Given the description of an element on the screen output the (x, y) to click on. 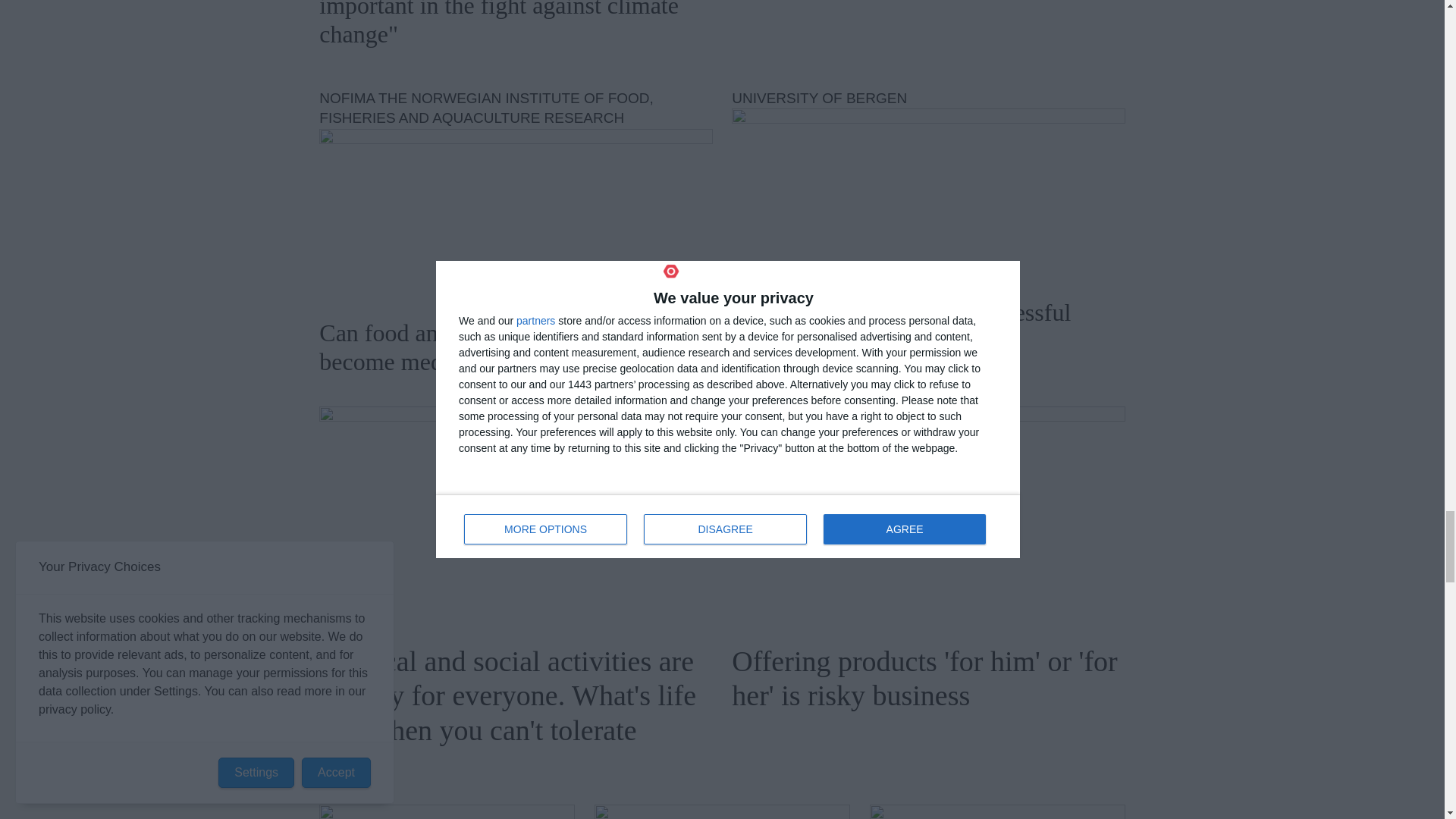
Study reveals the key to successful climate policies (928, 196)
Can food and residual raw materials become medicine? (514, 217)
